Given the description of an element on the screen output the (x, y) to click on. 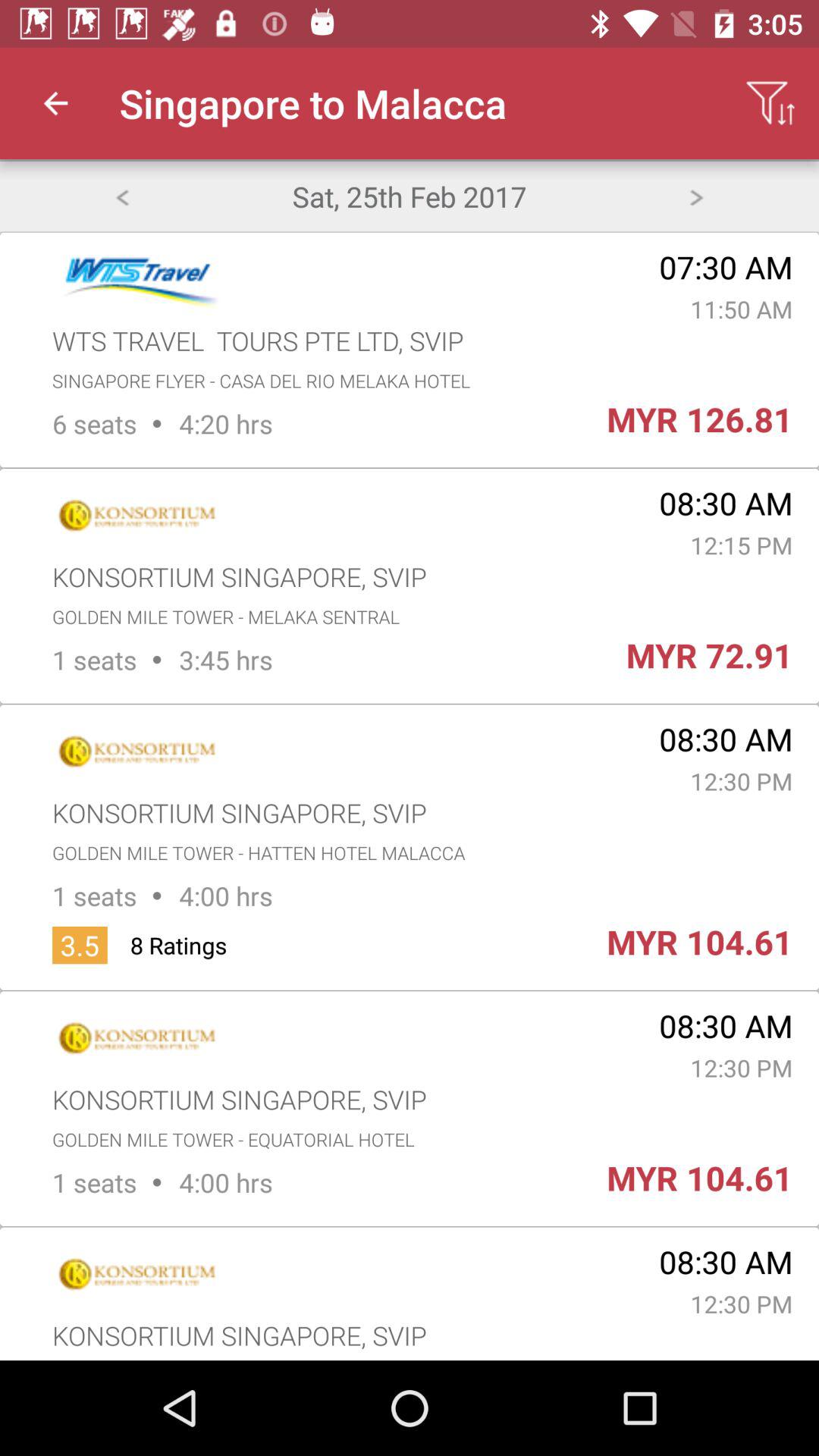
turn off icon to the right of the sat 25th feb icon (696, 196)
